Given the description of an element on the screen output the (x, y) to click on. 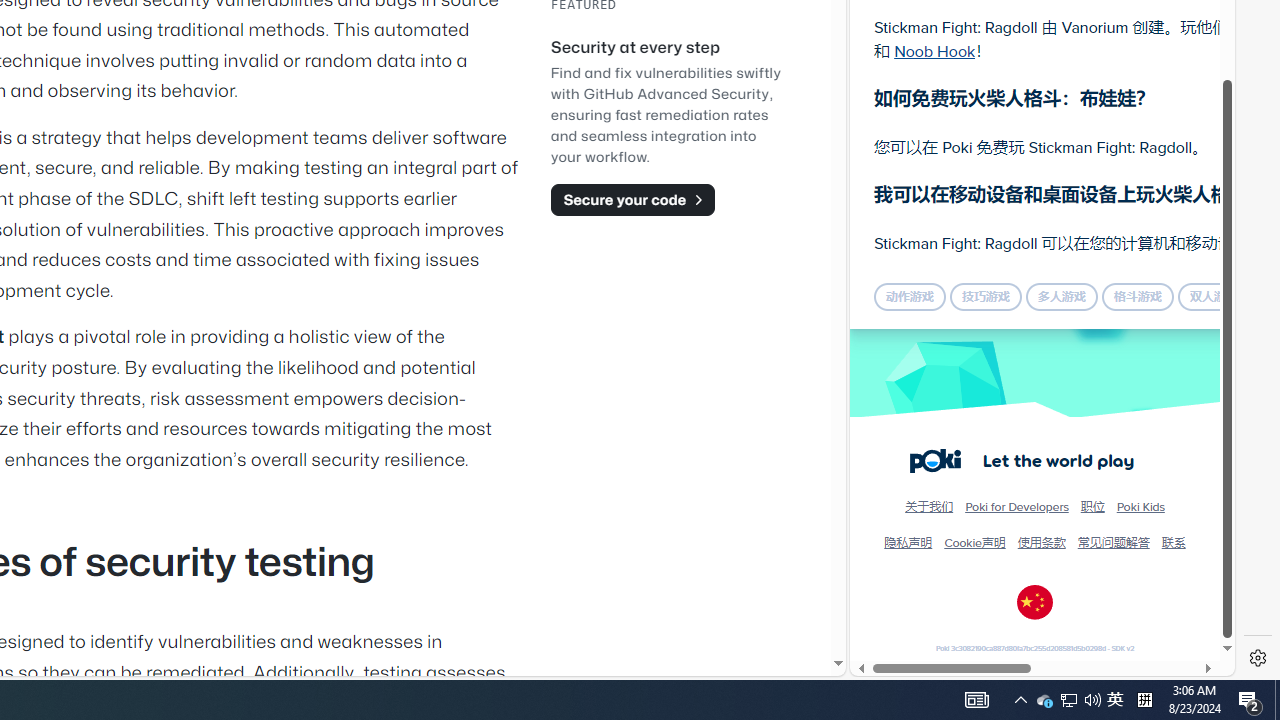
Poki for Developers (1016, 506)
Combat Reloaded (1090, 290)
Combat Reloaded (1092, 300)
SUBWAY SURFERS - Play Online for Free! | Poki (1034, 624)
Hills of Steel (943, 300)
Hills of Steel (925, 290)
